Given the description of an element on the screen output the (x, y) to click on. 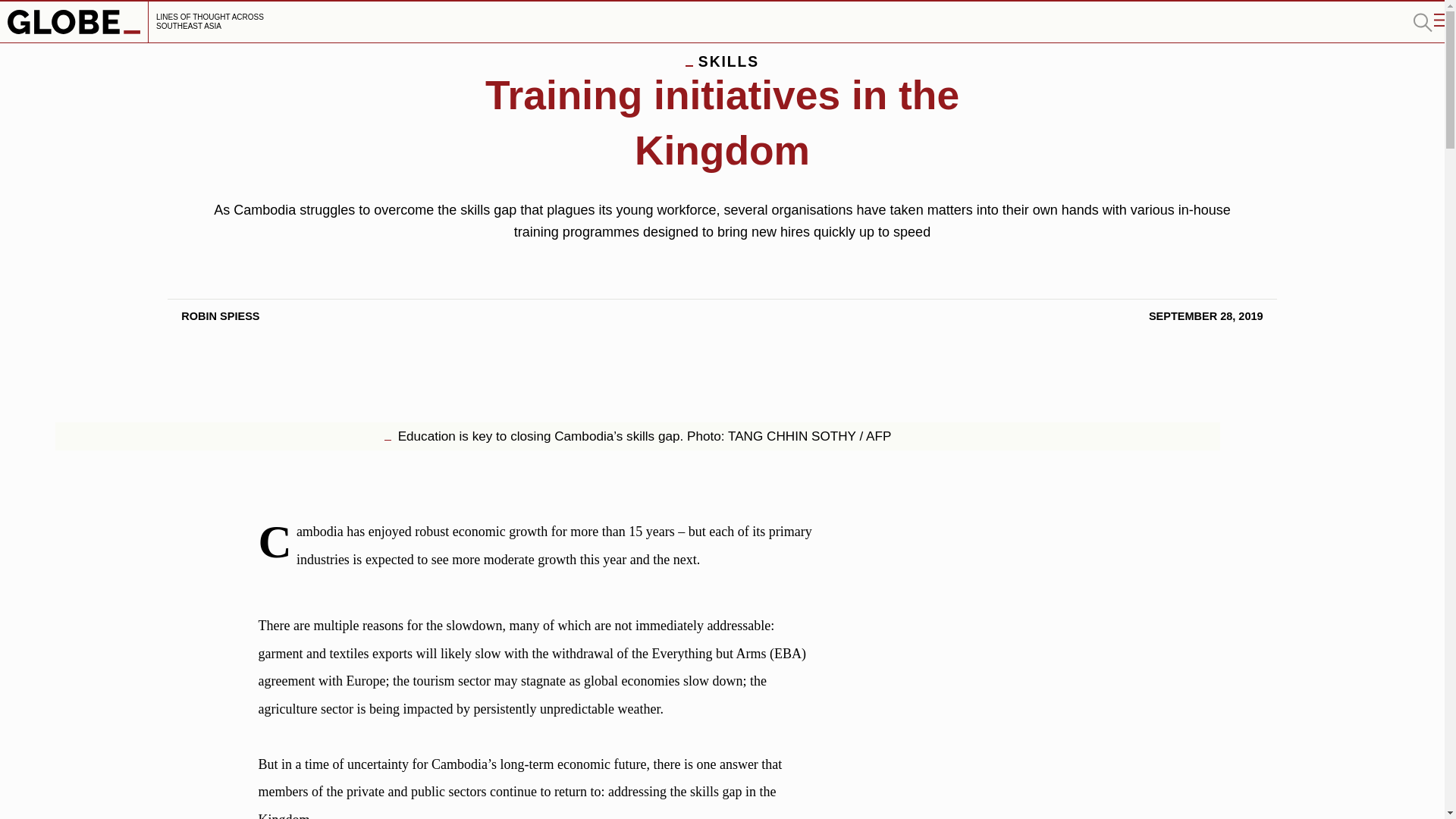
LINES OF THOUGHT ACROSS SOUTHEAST ASIA (138, 21)
Search (1422, 22)
Search (1422, 22)
